Given the description of an element on the screen output the (x, y) to click on. 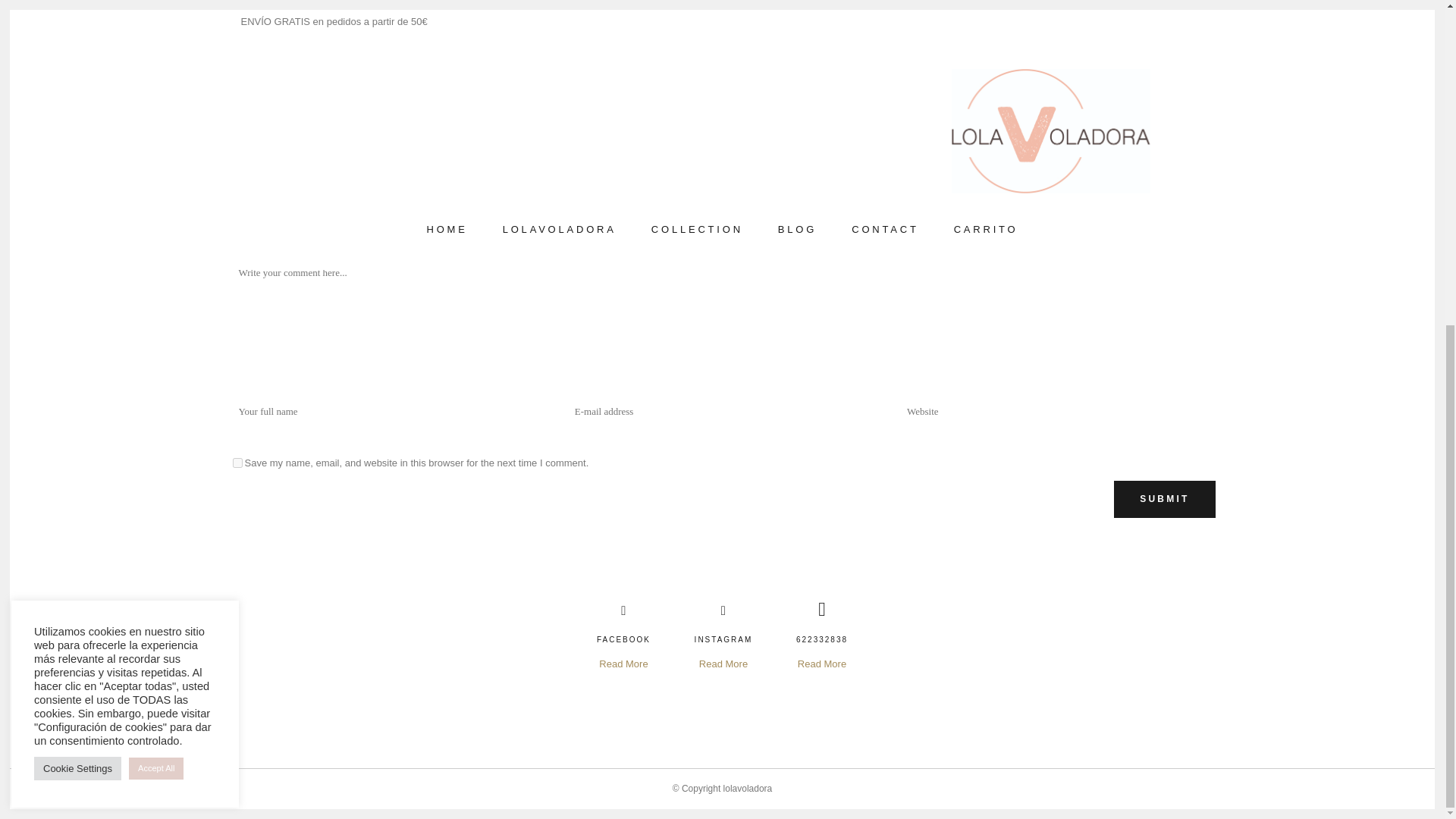
yes (236, 462)
Read More (622, 664)
lolavoladora (748, 787)
Read More (723, 664)
Read More (821, 664)
Submit (1163, 498)
Cookie Settings (76, 234)
Submit (1163, 498)
Accept All (156, 234)
